Given the description of an element on the screen output the (x, y) to click on. 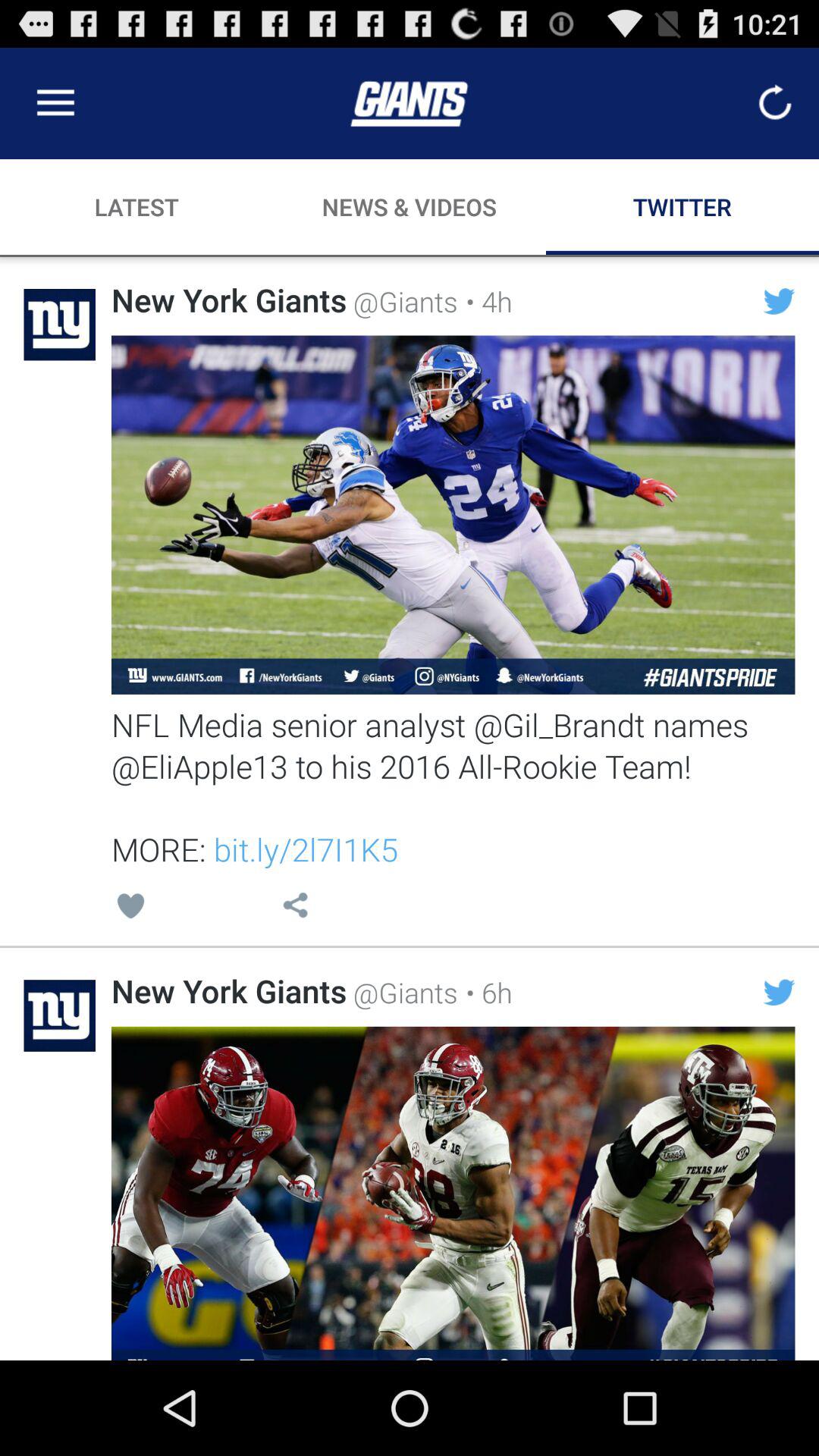
press the icon on the left (131, 907)
